Given the description of an element on the screen output the (x, y) to click on. 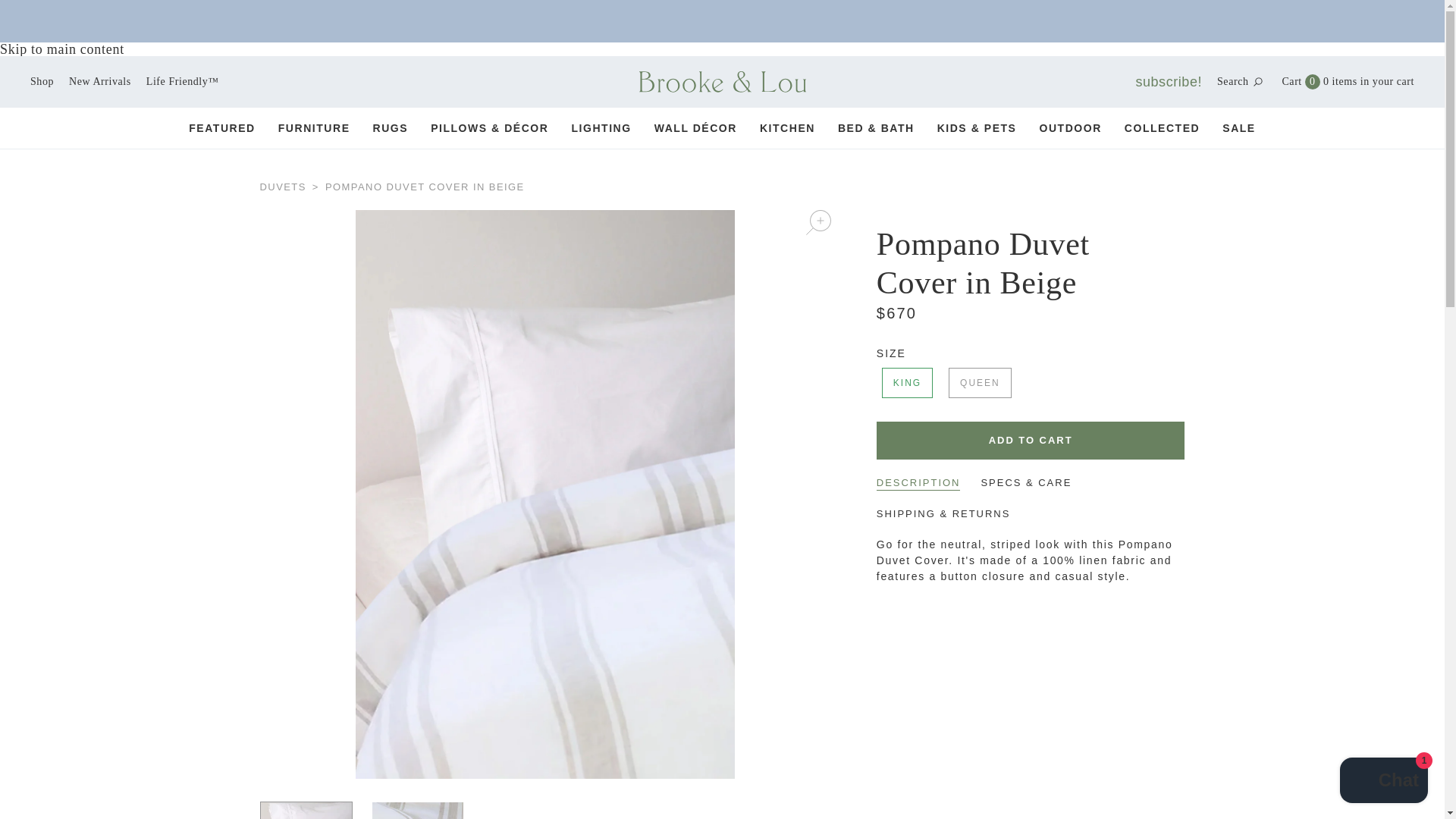
Skip to main content (61, 48)
FEATURED (222, 127)
Add To Cart (1030, 440)
OUTDOOR (1069, 127)
Shopify online store chat (1383, 781)
Shop (41, 81)
subscribe! (1168, 81)
RUGS (1300, 81)
COLLECTED (390, 127)
SALE (1161, 127)
FURNITURE (1239, 127)
LIGHTING (314, 127)
KITCHEN (600, 127)
Search (787, 127)
